Given the description of an element on the screen output the (x, y) to click on. 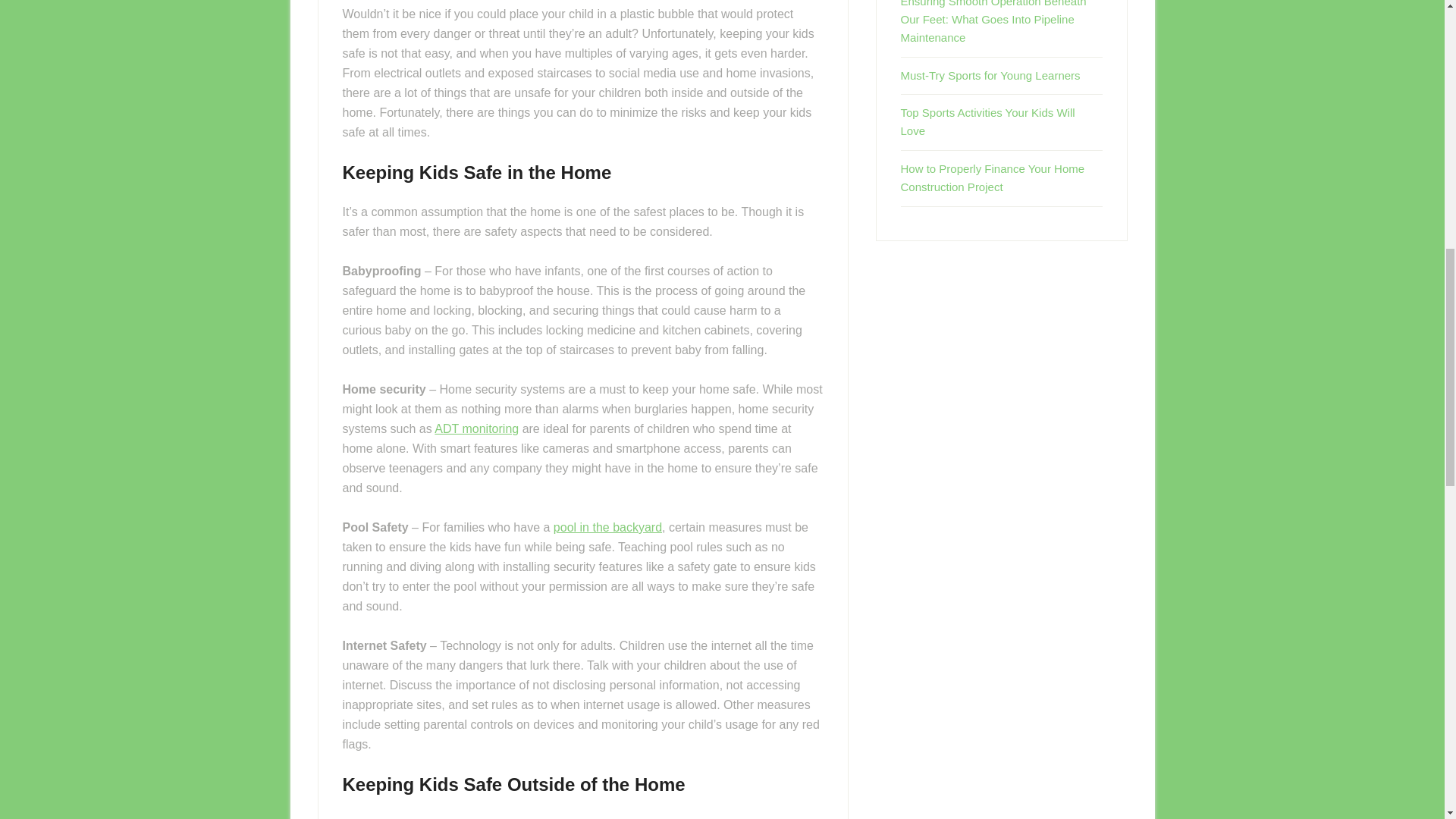
ADT monitoring (475, 428)
Top Sports Activities Your Kids Will Love (988, 121)
How to Properly Finance Your Home Construction Project (992, 177)
pool in the backyard (607, 526)
Must-Try Sports for Young Learners (990, 74)
